Given the description of an element on the screen output the (x, y) to click on. 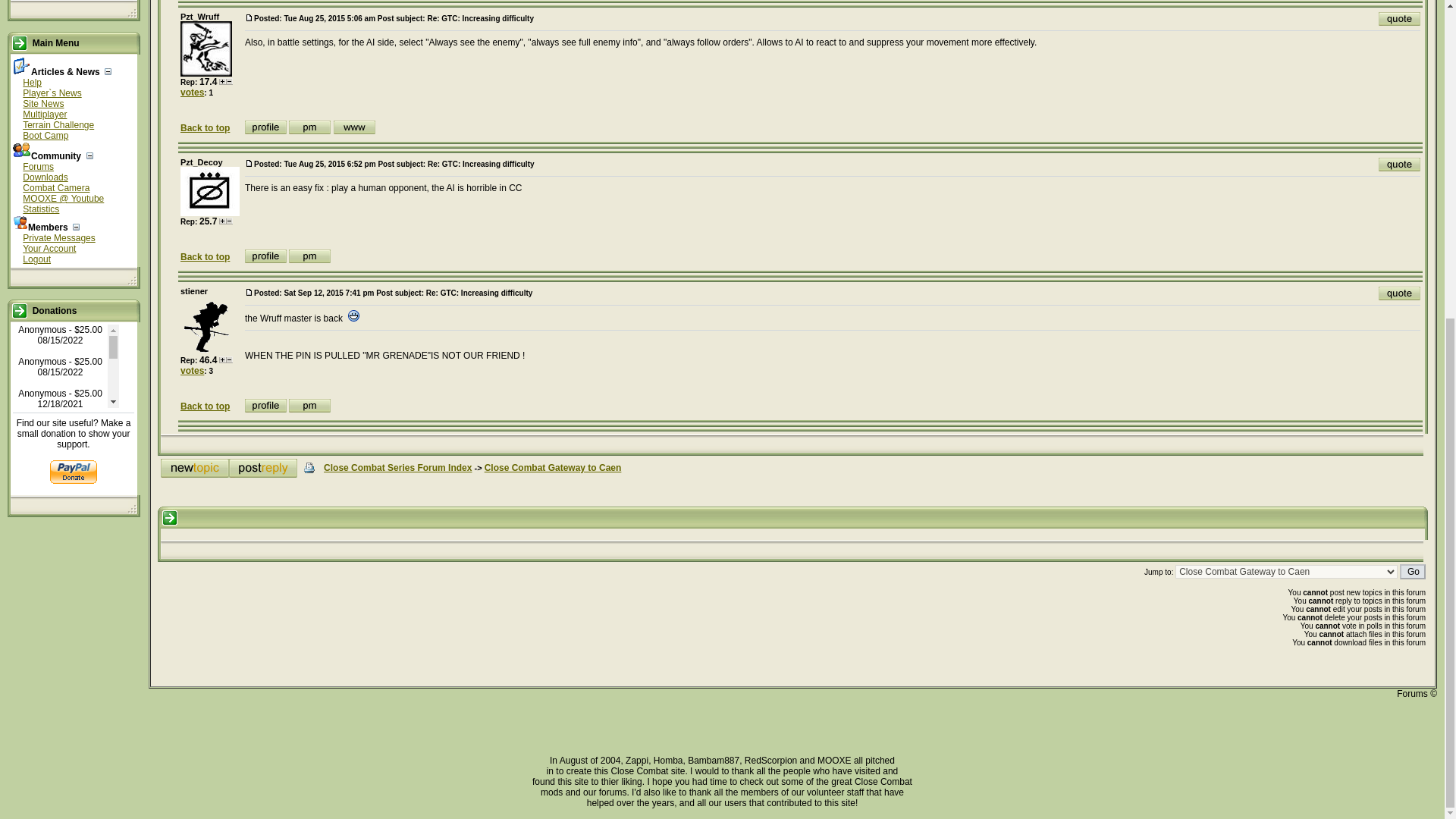
Reply with quote (1399, 18)
Terrain Challenge (58, 124)
Site News (43, 103)
Private Messages (58, 237)
Statistics (41, 208)
Post (248, 163)
Downloads (44, 176)
Send private message (309, 127)
Go (1412, 571)
Logout (36, 258)
Forums (38, 166)
Reply with quote (1399, 164)
Help (32, 81)
Visit poster's website (354, 127)
Boot Camp (45, 135)
